Given the description of an element on the screen output the (x, y) to click on. 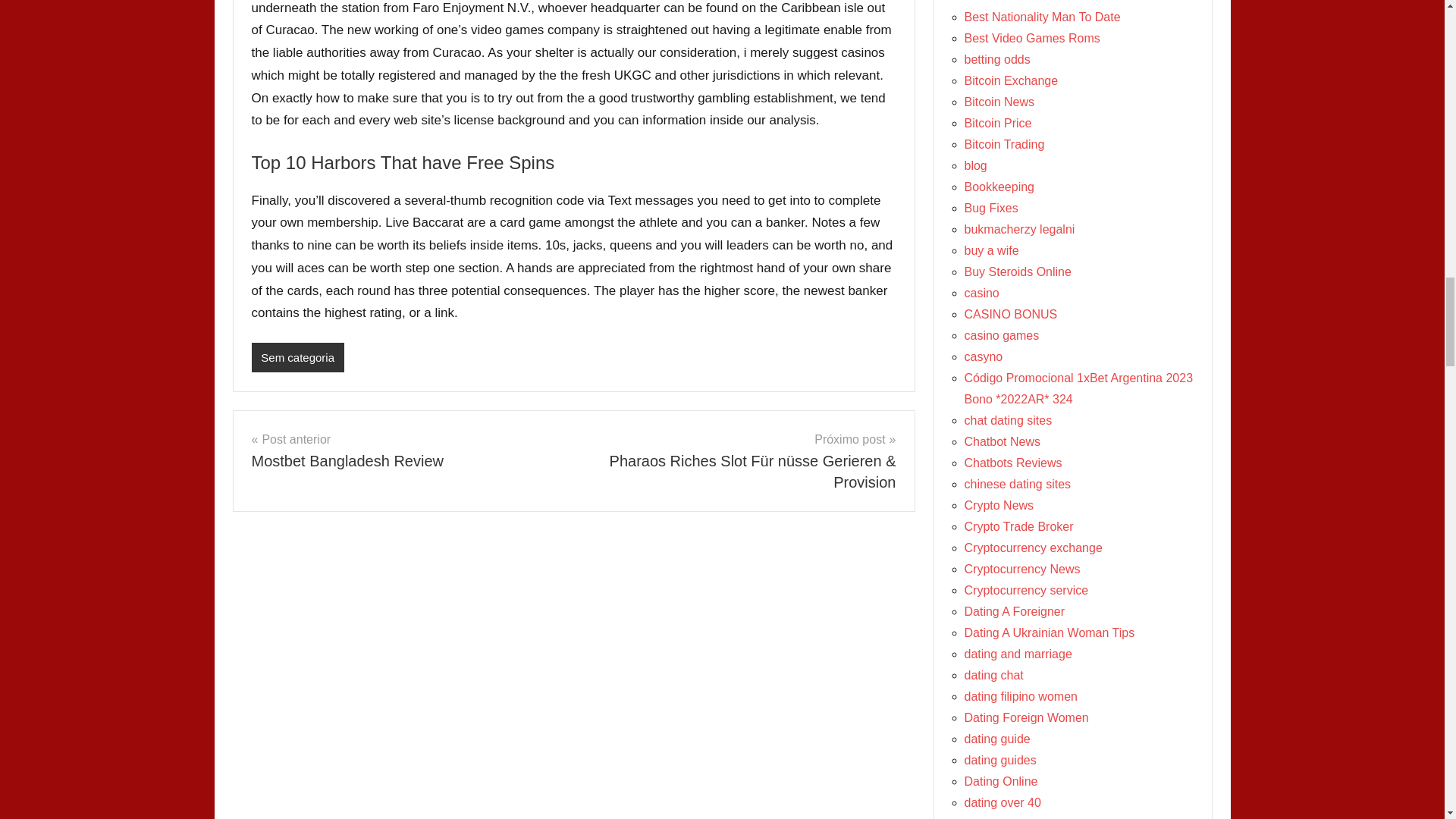
Sem categoria (297, 357)
